Given the description of an element on the screen output the (x, y) to click on. 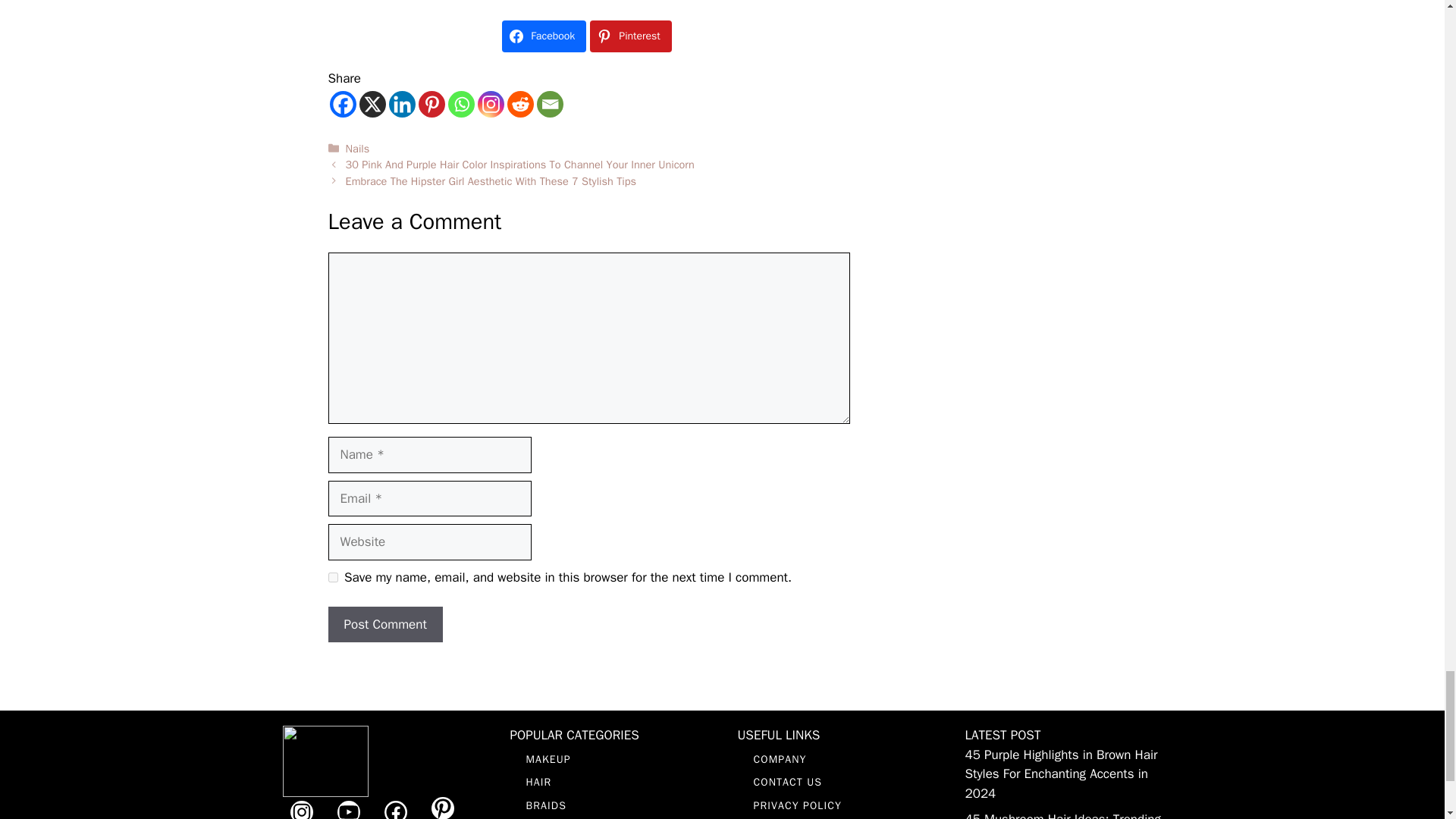
X (372, 103)
Post Comment (384, 624)
Pinterest (432, 103)
yes (332, 577)
Linkedin (401, 103)
Facebook (342, 103)
Email (550, 103)
Share on Pinterest (630, 36)
Whatsapp (460, 103)
Reddit (519, 103)
